Given the description of an element on the screen output the (x, y) to click on. 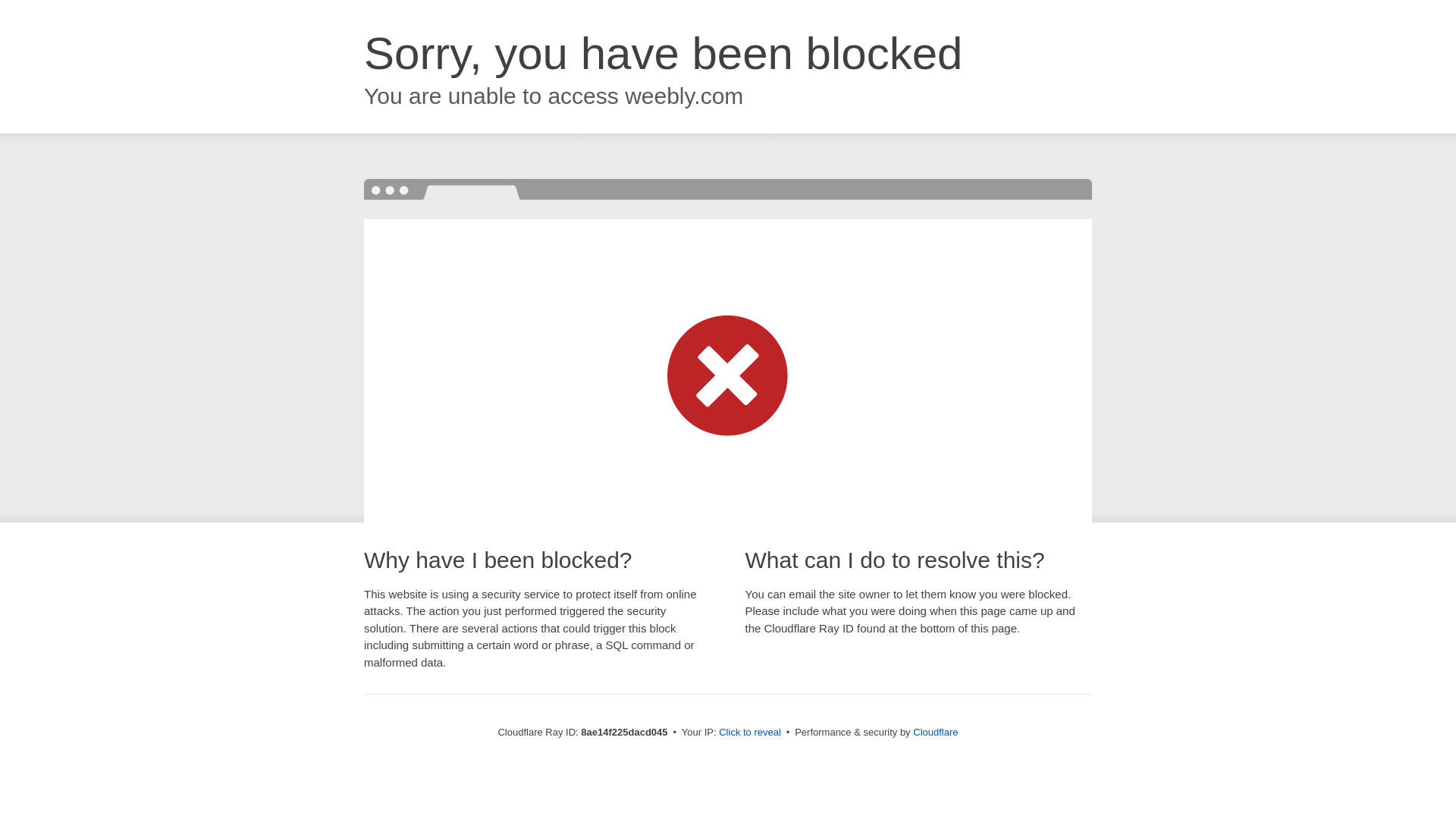
Cloudflare (935, 731)
Click to reveal (749, 732)
